Given the description of an element on the screen output the (x, y) to click on. 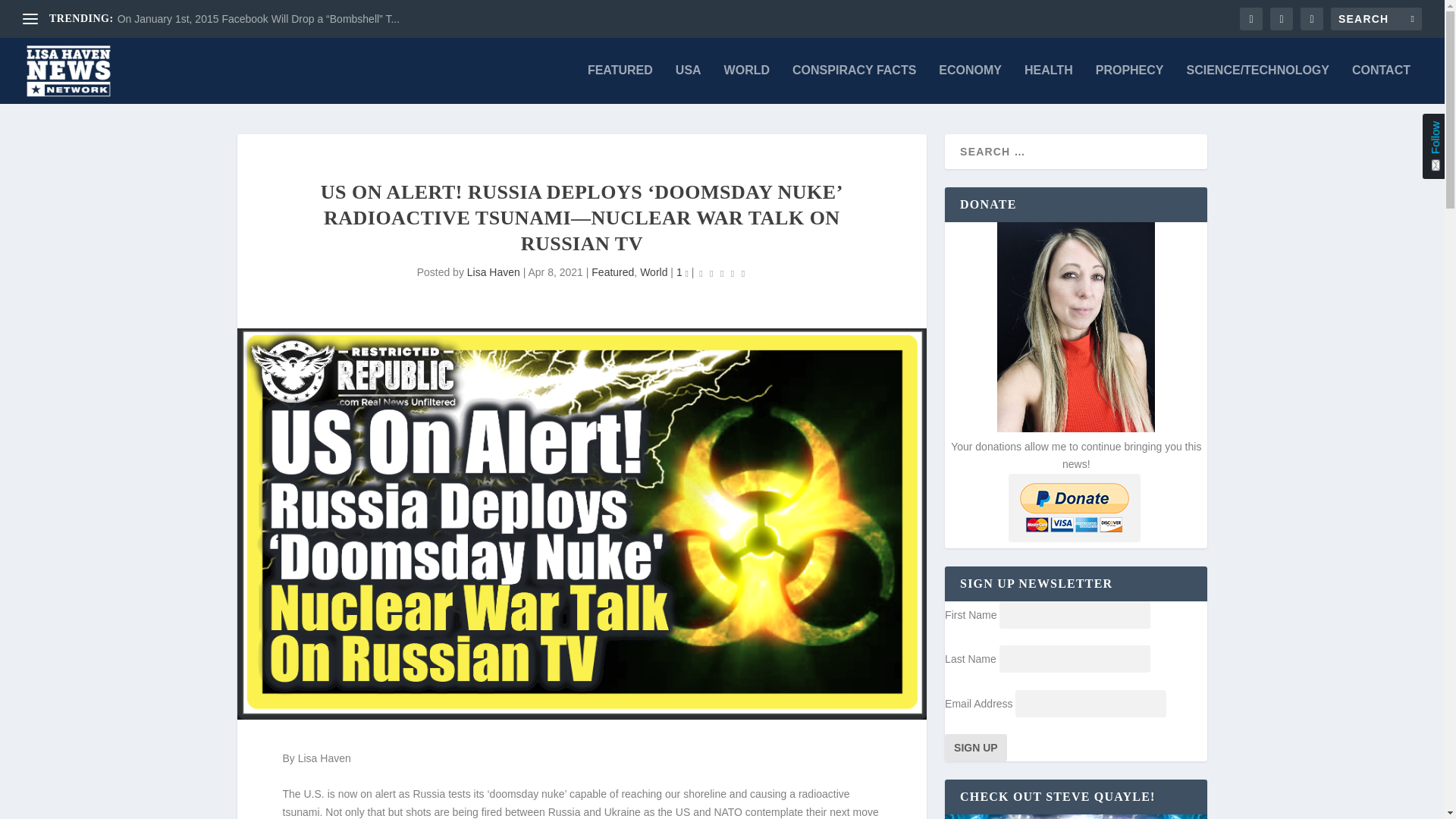
comment count (686, 273)
Sign up (975, 747)
CONSPIRACY FACTS (853, 84)
Featured (612, 272)
PROPHECY (1129, 84)
WORLD (746, 84)
Search for: (1376, 18)
Lisa Haven (493, 272)
Rating: 0.00 (721, 272)
Posts by Lisa Haven (493, 272)
1 (682, 272)
ECONOMY (970, 84)
CONTACT (1381, 84)
FEATURED (620, 84)
World (653, 272)
